Given the description of an element on the screen output the (x, y) to click on. 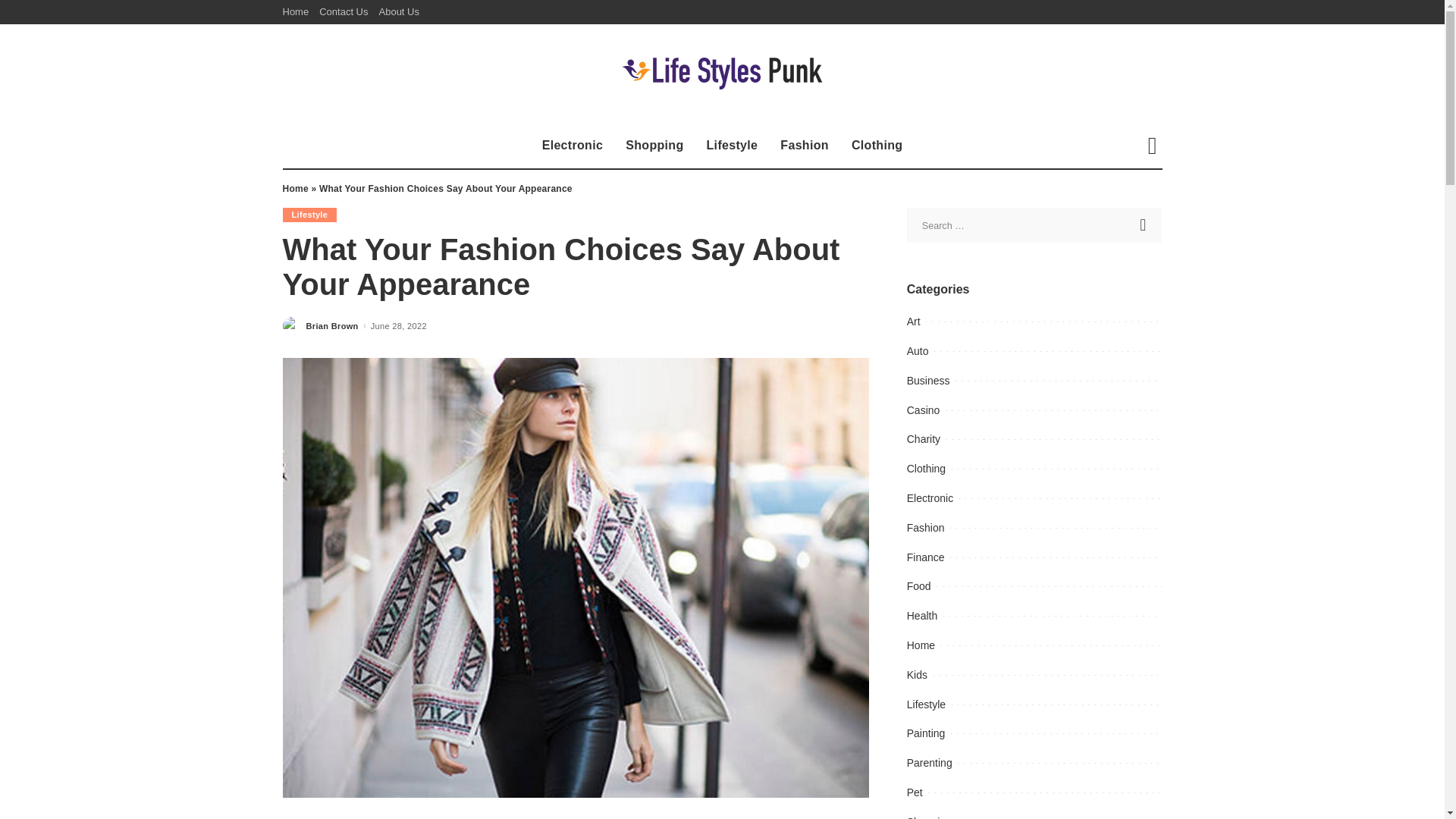
Fashion (804, 145)
Home (294, 188)
Search (1140, 199)
About Us (397, 12)
Search (1143, 225)
Contact Us (343, 12)
Search (1143, 225)
Electronic (572, 145)
Life Styles Punk (721, 73)
Clothing (877, 145)
